Given the description of an element on the screen output the (x, y) to click on. 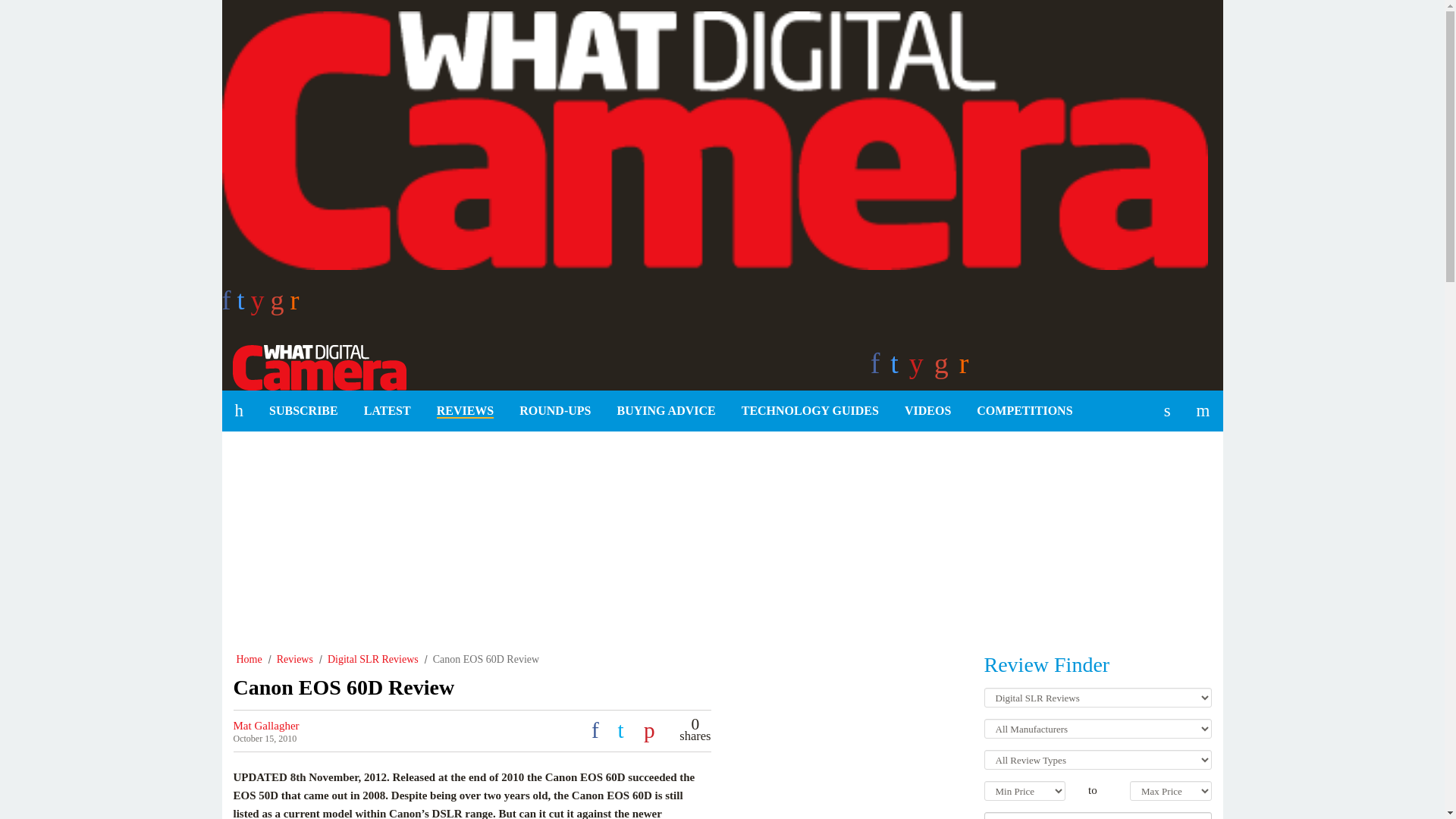
g (279, 305)
LATEST (386, 410)
What Digital Camera (313, 365)
y (260, 305)
ROUND-UPS (555, 410)
t (242, 305)
SUBSCRIBE (303, 410)
f (228, 305)
What Digital Camera (313, 365)
REVIEWS (464, 410)
